Given the description of an element on the screen output the (x, y) to click on. 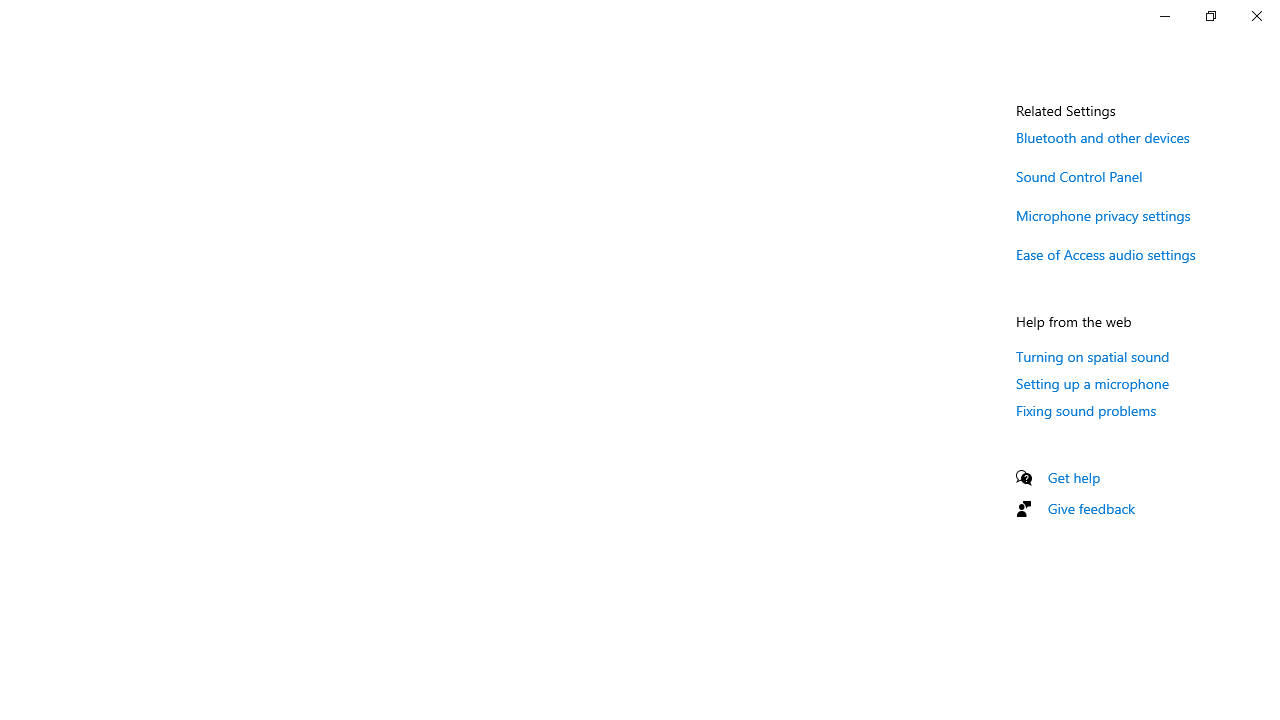
Bluetooth and other devices (1103, 137)
Microphone privacy settings (1103, 214)
Fixing sound problems (1086, 410)
Turning on spatial sound (1092, 356)
Sound Control Panel (1079, 176)
Ease of Access audio settings (1105, 254)
Setting up a microphone (1092, 383)
